Given the description of an element on the screen output the (x, y) to click on. 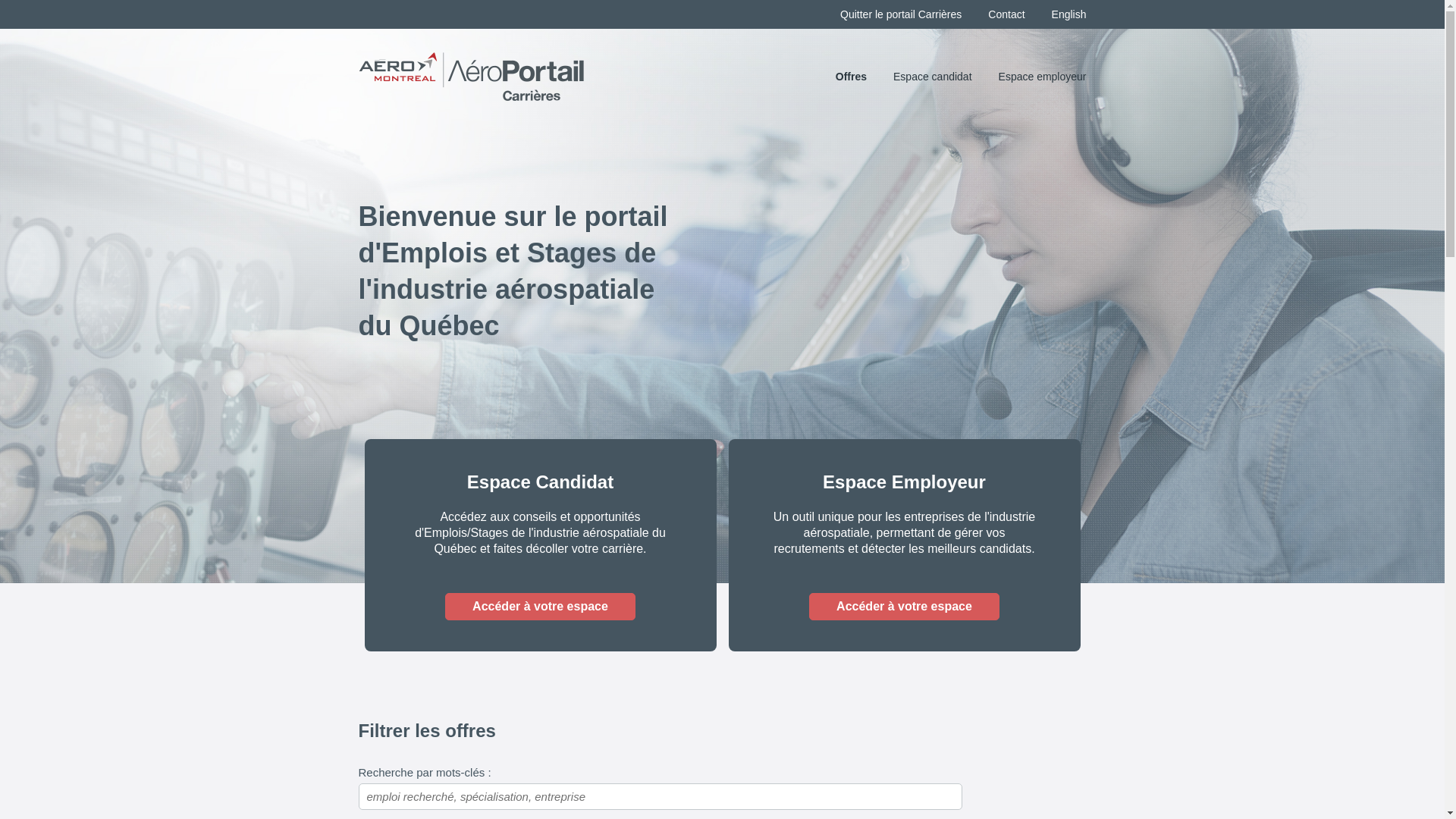
English Element type: text (1068, 14)
Espace employeur Element type: text (1042, 76)
Offres Element type: text (850, 76)
Espace candidat Element type: text (932, 76)
Contact Element type: text (1006, 14)
